Given the description of an element on the screen output the (x, y) to click on. 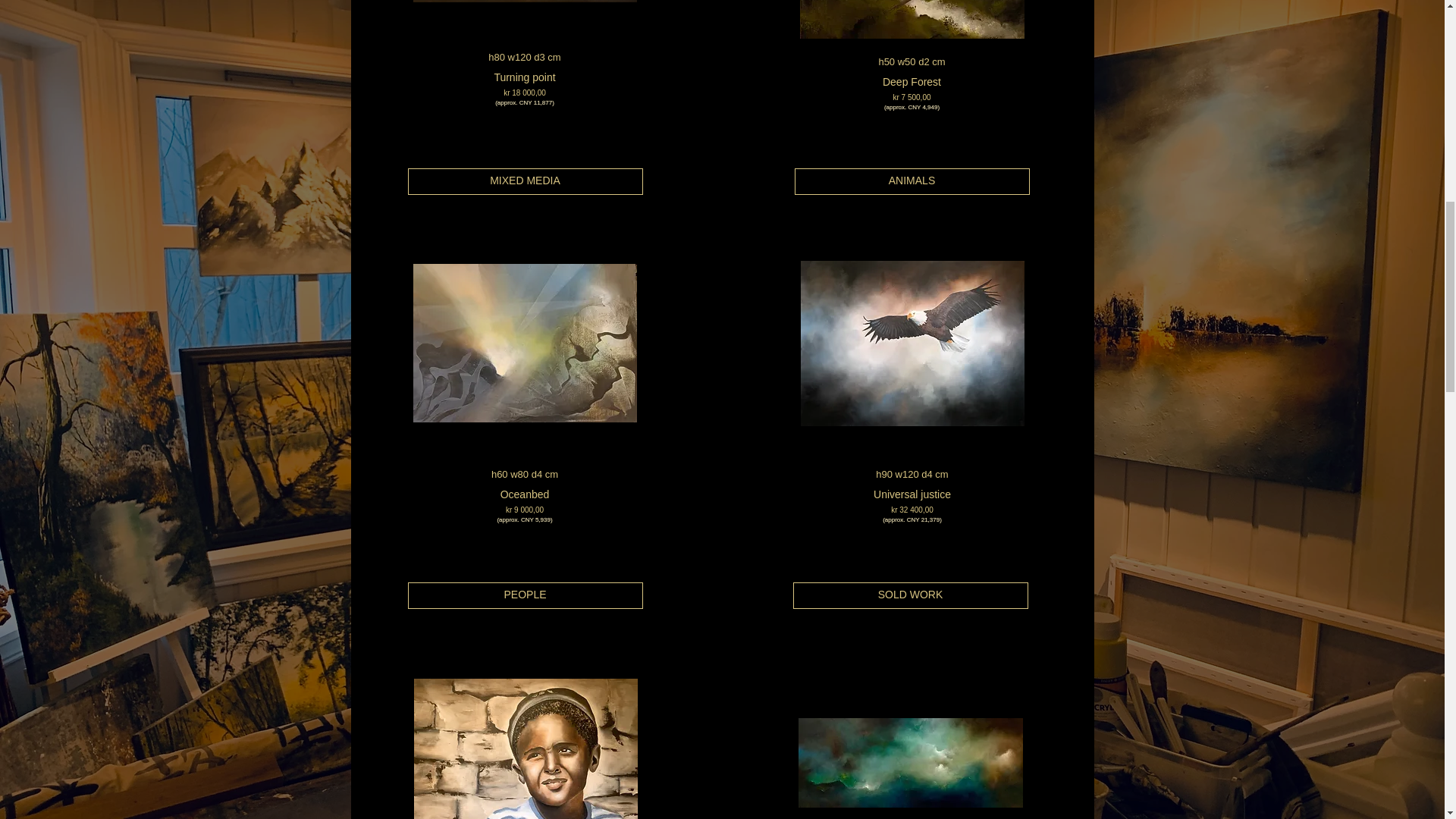
MIXED MEDIA (525, 181)
